Given the description of an element on the screen output the (x, y) to click on. 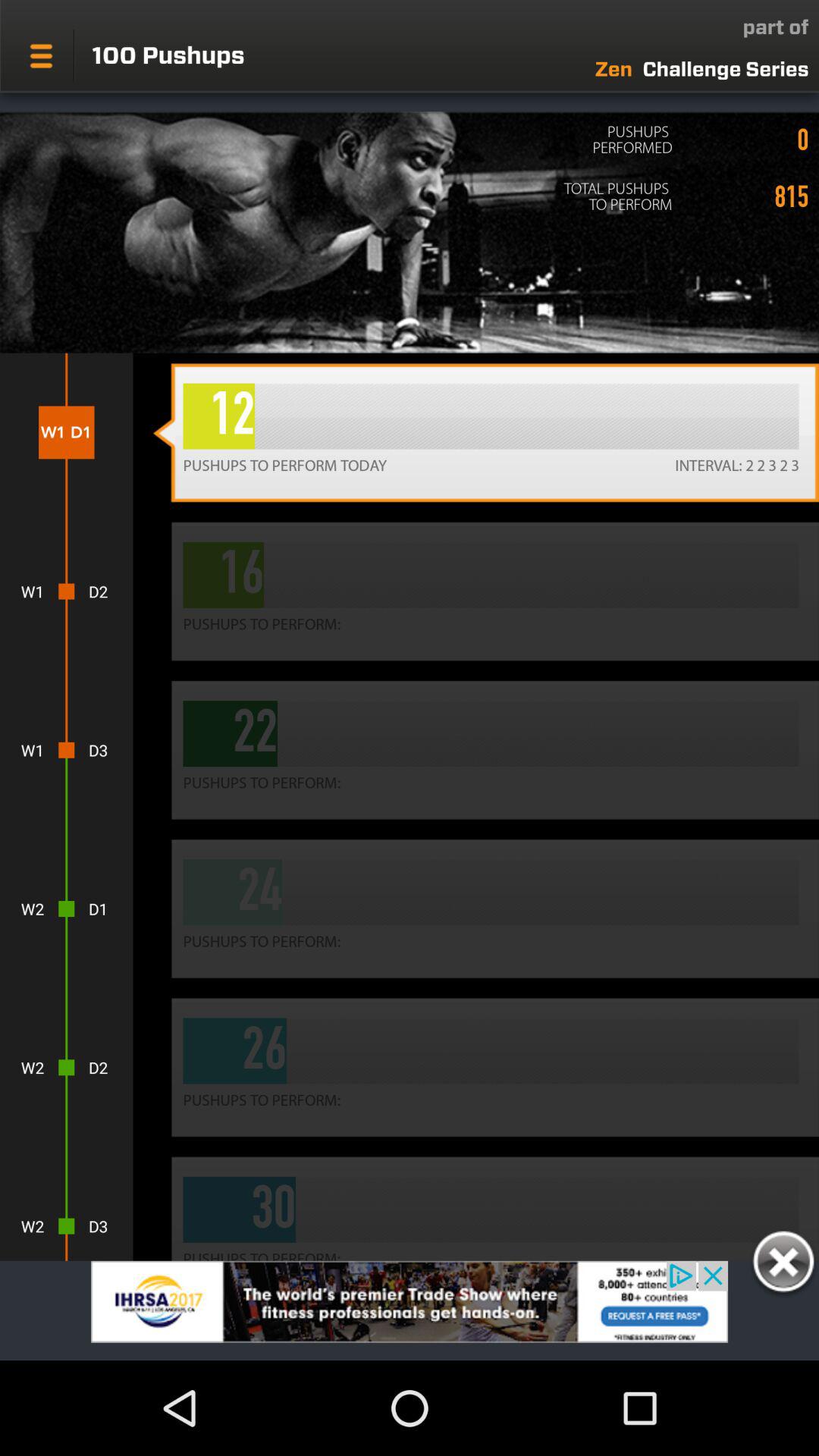
advertisement (409, 1310)
